Given the description of an element on the screen output the (x, y) to click on. 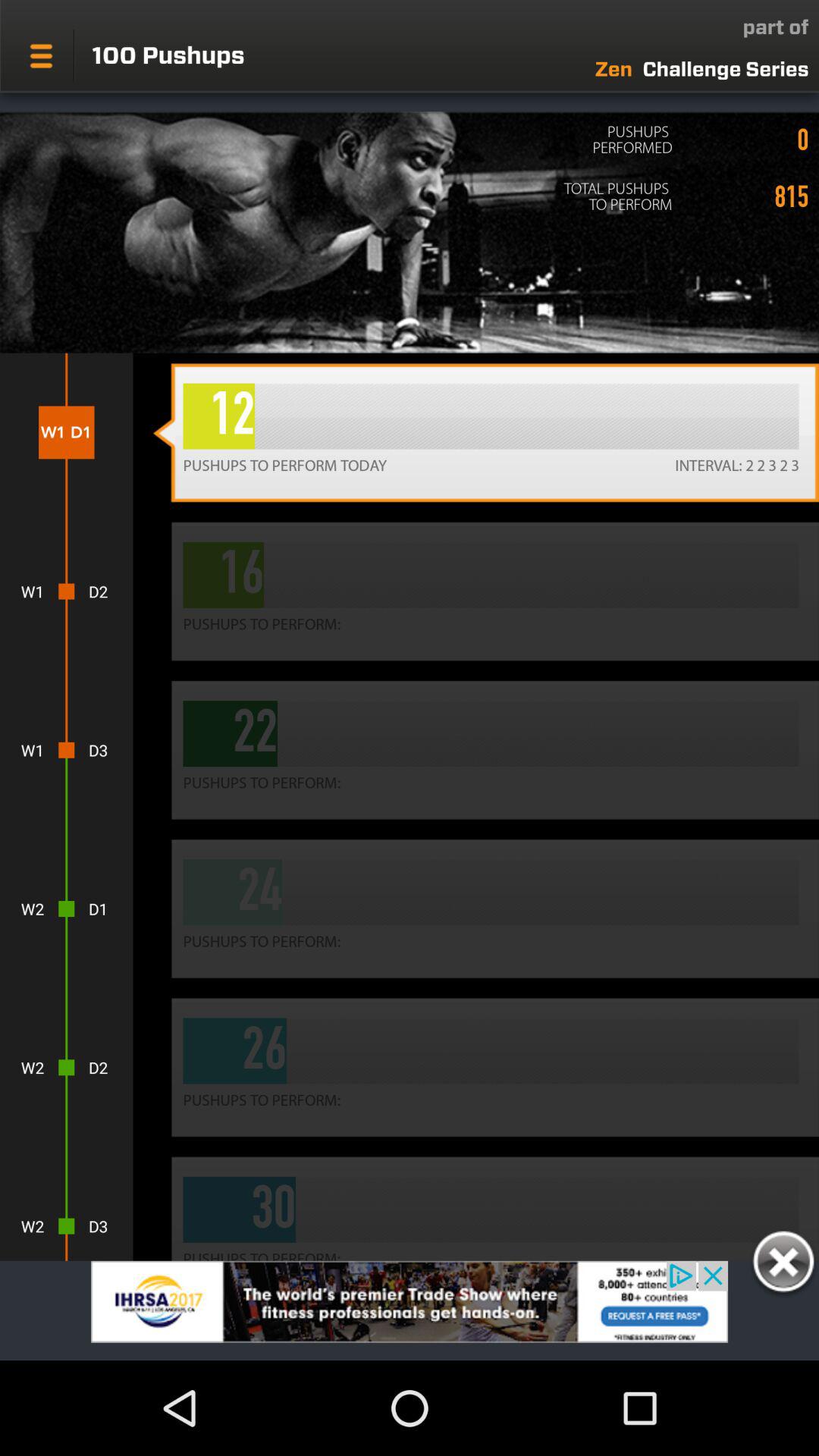
advertisement (409, 1310)
